Given the description of an element on the screen output the (x, y) to click on. 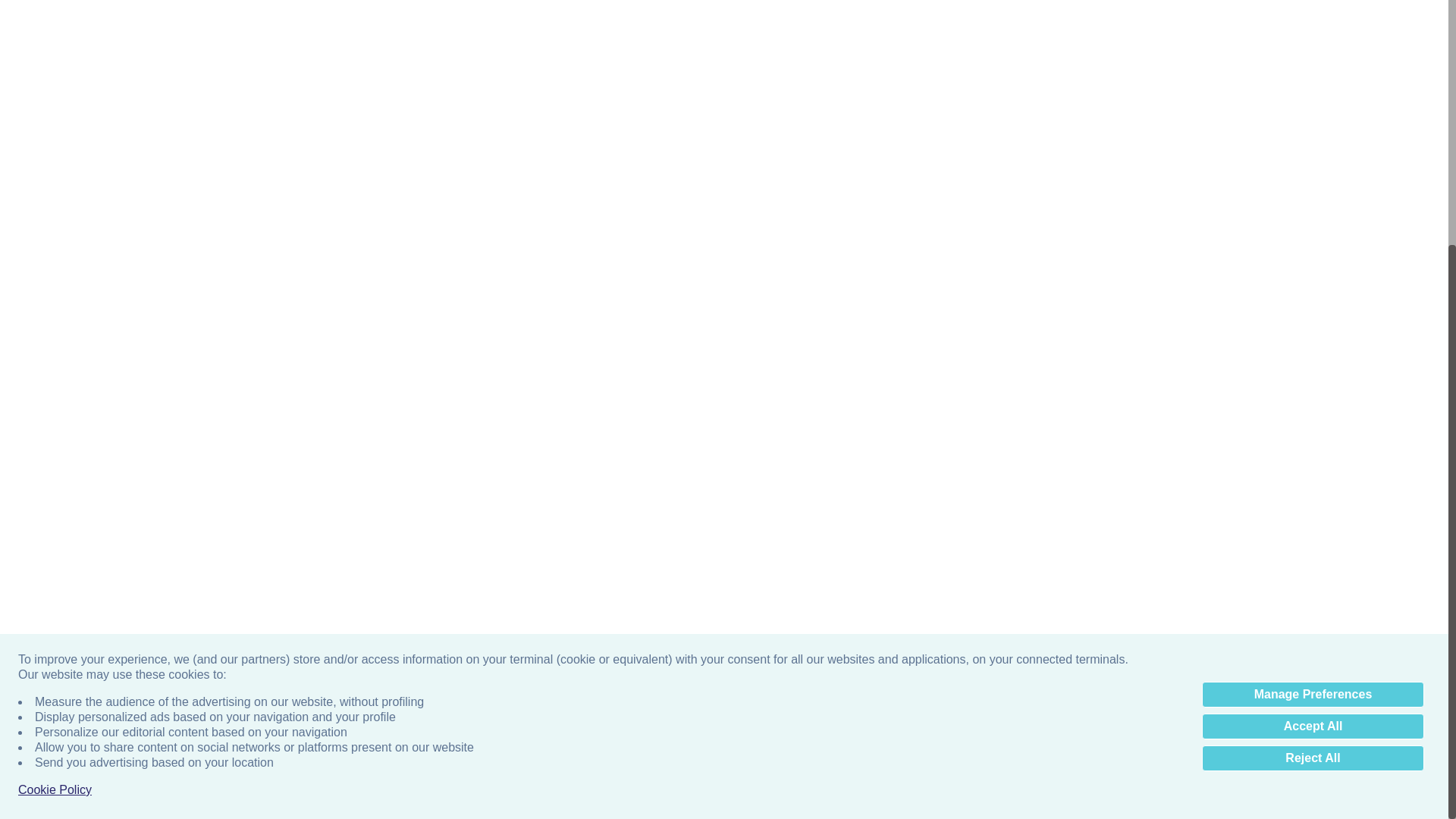
Cookie Policy (54, 441)
Manage Preferences (1312, 345)
Reject All (1312, 409)
Accept All (1312, 377)
